Given the description of an element on the screen output the (x, y) to click on. 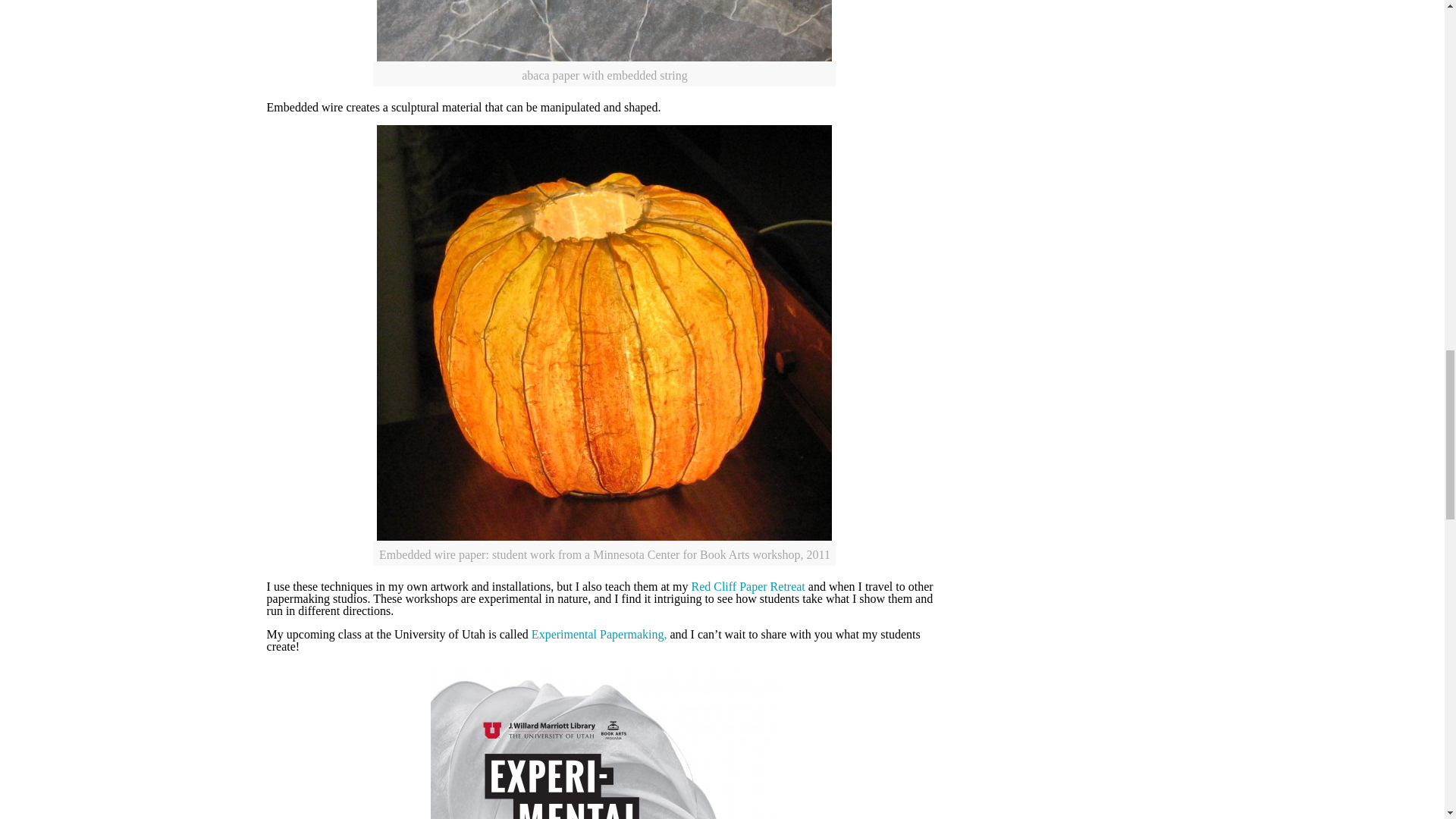
Red Cliff Paper Retreat (747, 585)
Experimental Papermaking, (598, 634)
